Given the description of an element on the screen output the (x, y) to click on. 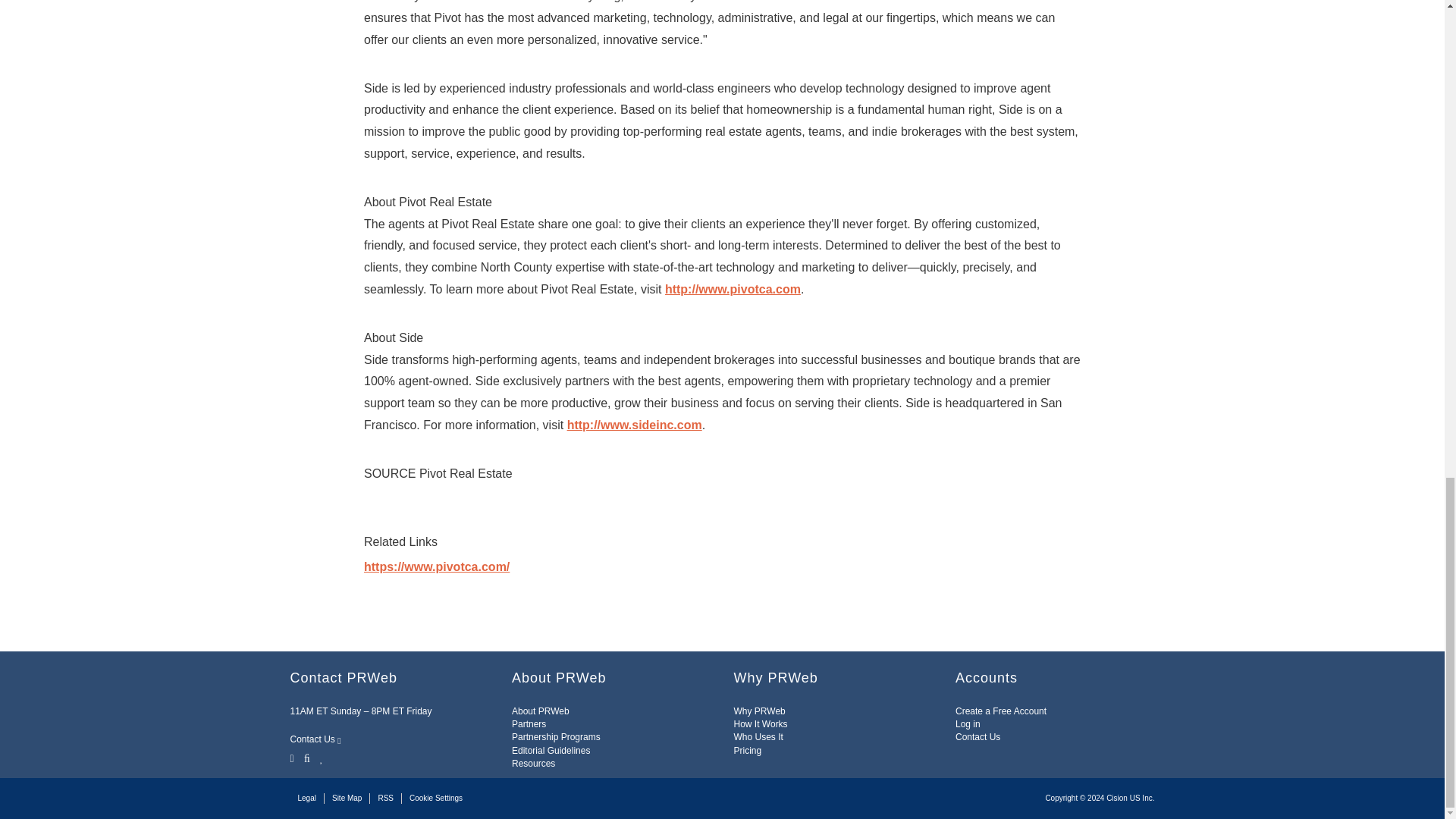
Resources (533, 763)
Partners (529, 724)
Editorial Guidelines (550, 750)
About PRWeb (540, 710)
Why PRWeb (759, 710)
Partnership Programs (555, 737)
Facebook (306, 757)
